Given the description of an element on the screen output the (x, y) to click on. 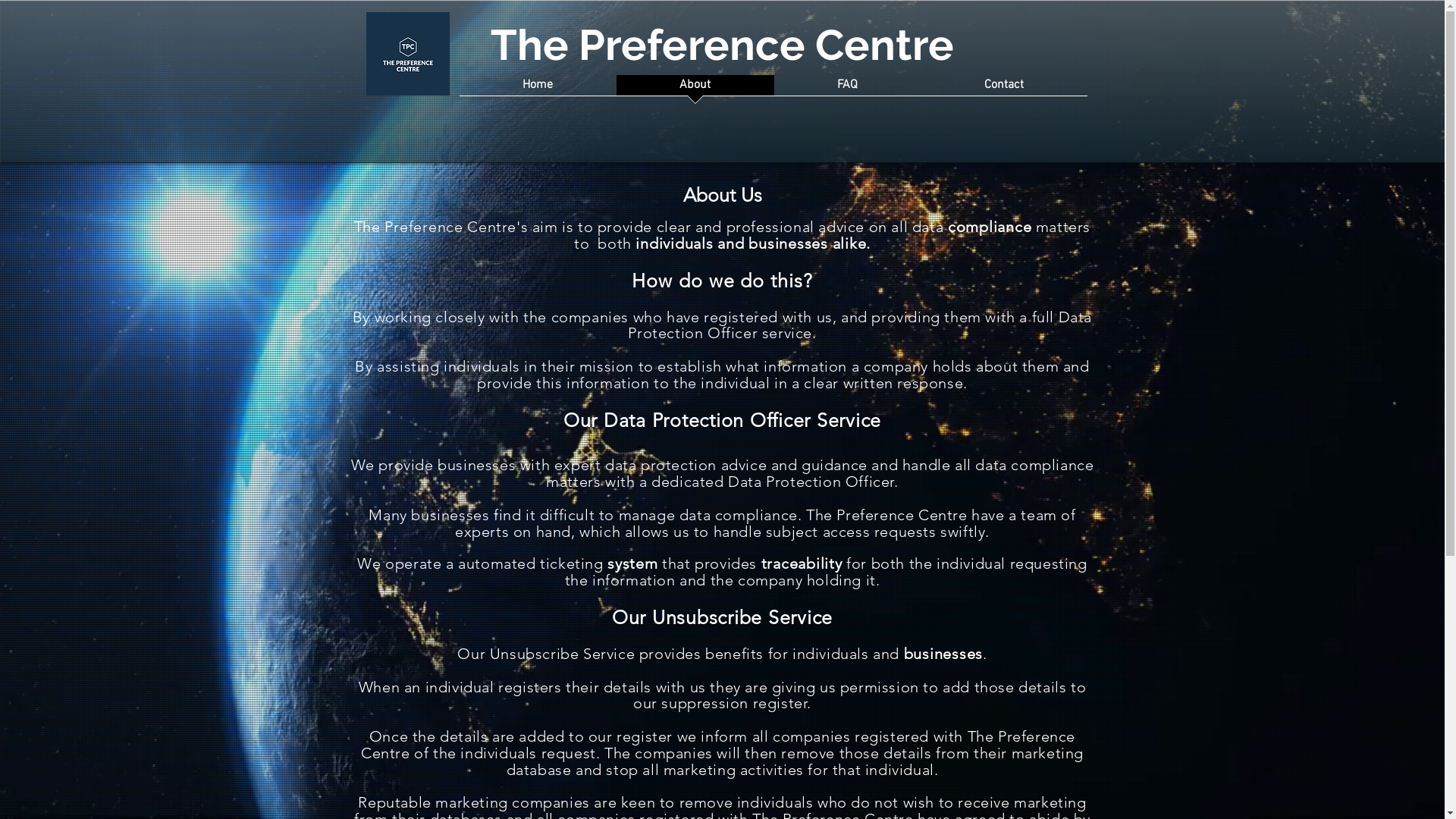
Contact Element type: text (1003, 90)
About Element type: text (694, 90)
Home Element type: text (537, 90)
FAQ Element type: text (846, 90)
